Given the description of an element on the screen output the (x, y) to click on. 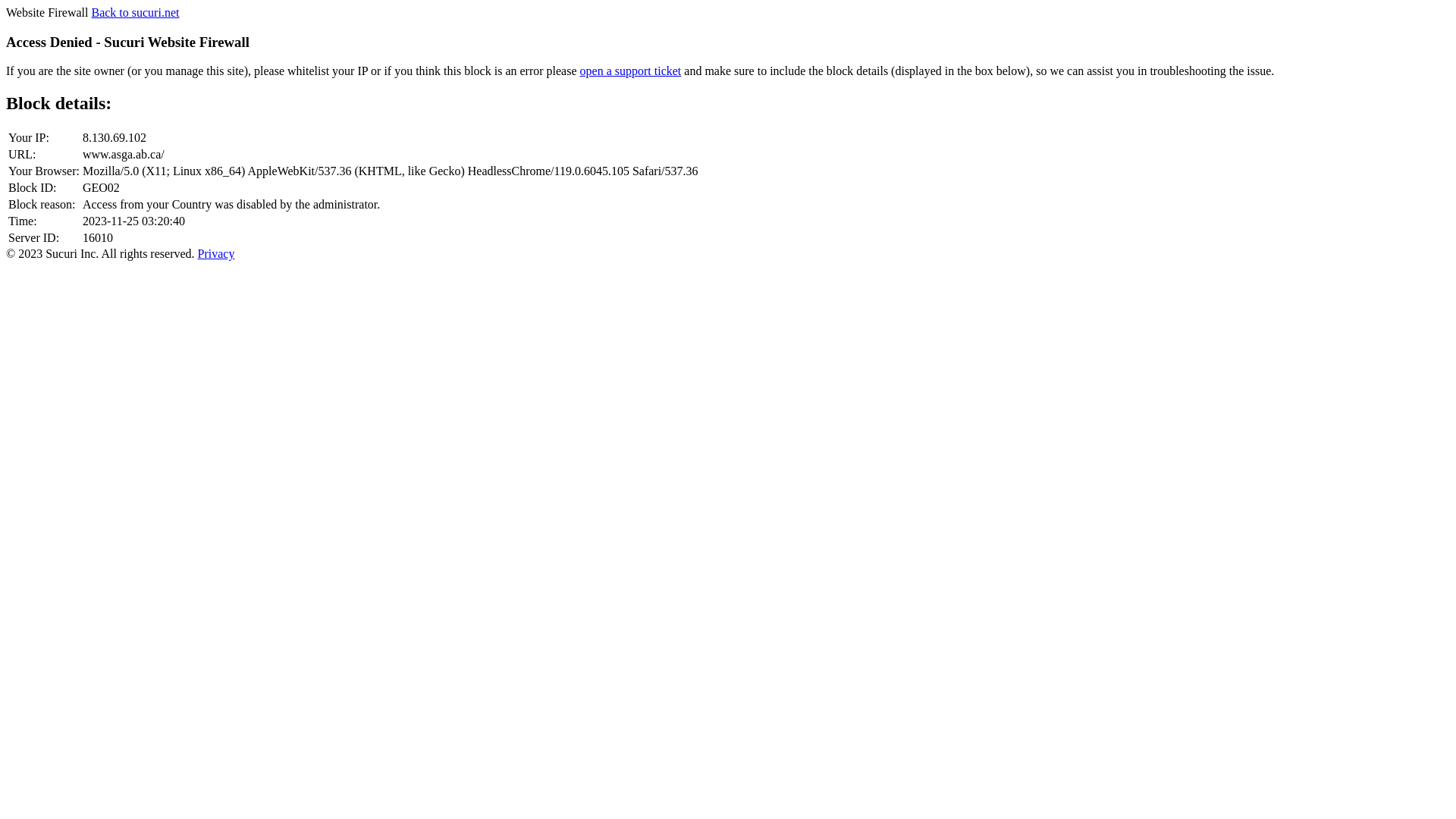
open a support ticket Element type: text (630, 70)
Back to sucuri.net Element type: text (134, 12)
Privacy Element type: text (216, 253)
